Given the description of an element on the screen output the (x, y) to click on. 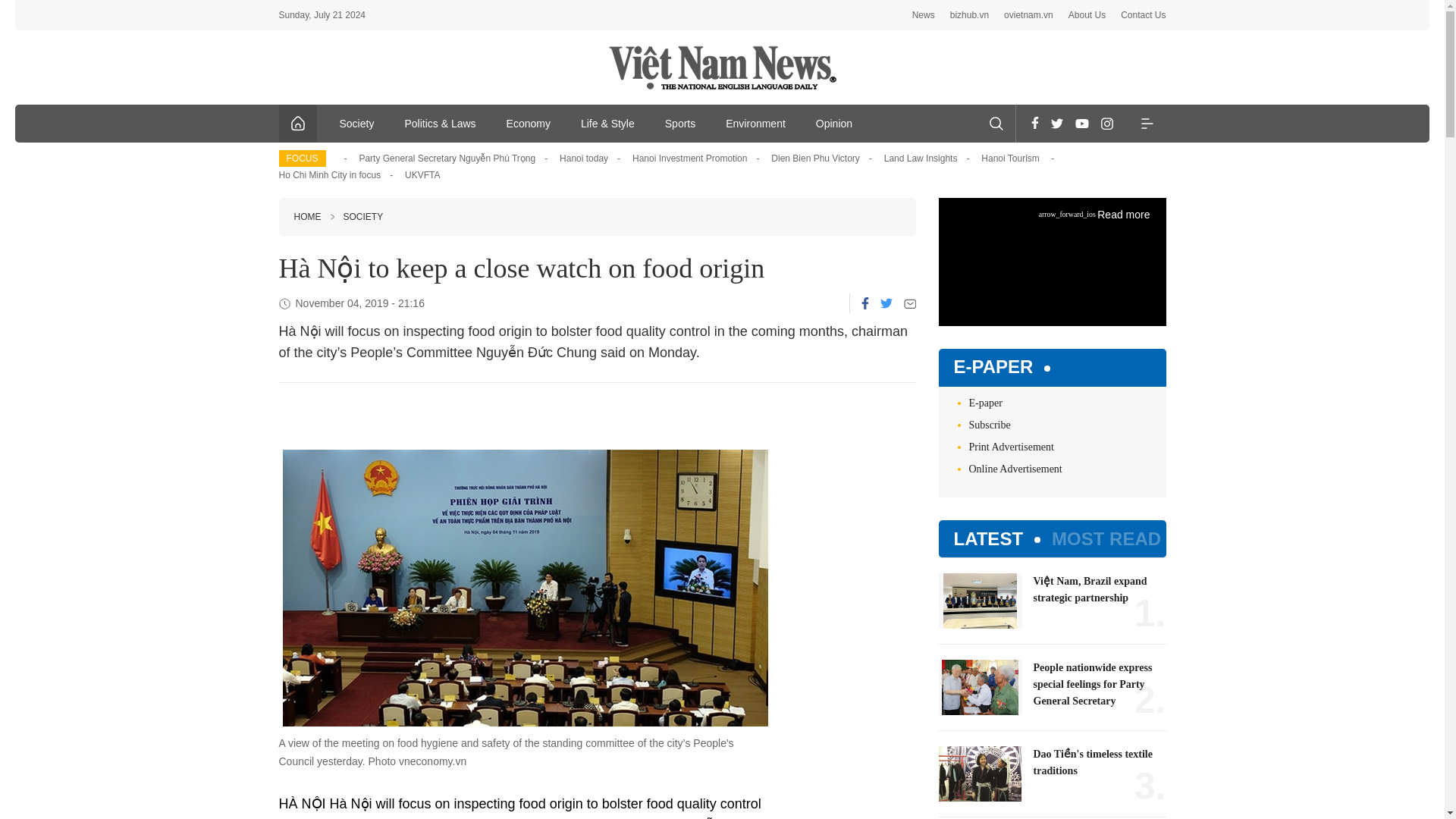
Email (909, 303)
News (923, 15)
Opinion (833, 123)
Twitter (1056, 122)
Contact Us (1143, 15)
Instagram (1106, 123)
About Us (1086, 15)
Society (357, 123)
Twitter (885, 303)
Sports (679, 123)
Economy (529, 123)
ovietnam.vn (1028, 15)
Youtube (1081, 122)
bizhub.vn (969, 15)
Environment (755, 123)
